Given the description of an element on the screen output the (x, y) to click on. 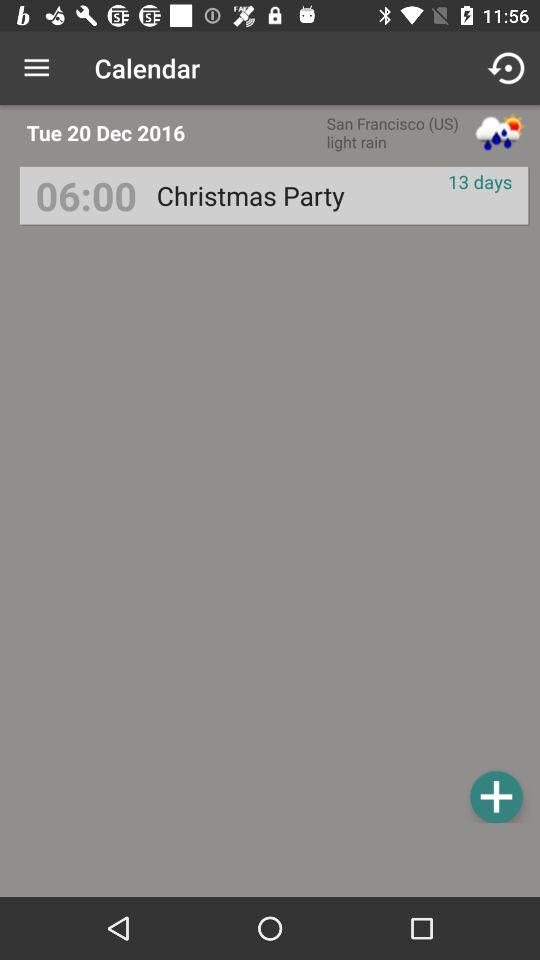
jump to 13 days (480, 181)
